Given the description of an element on the screen output the (x, y) to click on. 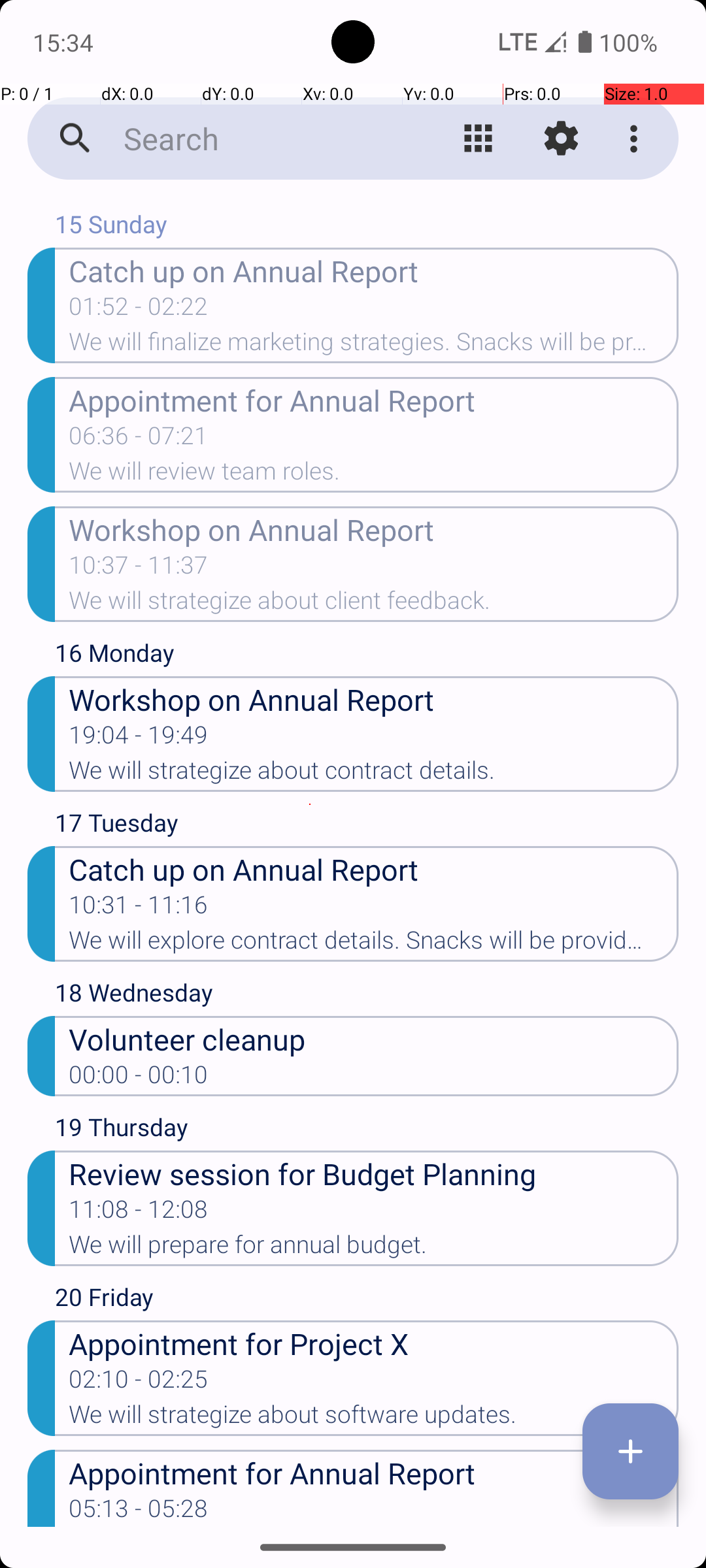
01:52 - 02:22 Element type: android.widget.TextView (137, 309)
We will finalize marketing strategies. Snacks will be provided. Element type: android.widget.TextView (373, 345)
06:36 - 07:21 Element type: android.widget.TextView (137, 439)
We will review team roles. Element type: android.widget.TextView (373, 474)
10:37 - 11:37 Element type: android.widget.TextView (137, 568)
We will strategize about client feedback. Element type: android.widget.TextView (373, 603)
19:04 - 19:49 Element type: android.widget.TextView (137, 738)
We will strategize about contract details. Element type: android.widget.TextView (373, 773)
10:31 - 11:16 Element type: android.widget.TextView (137, 908)
We will explore contract details. Snacks will be provided. Element type: android.widget.TextView (373, 943)
Volunteer cleanup Element type: android.widget.TextView (373, 1038)
00:00 - 00:10 Element type: android.widget.TextView (137, 1078)
11:08 - 12:08 Element type: android.widget.TextView (137, 1212)
We will prepare for annual budget. Element type: android.widget.TextView (373, 1248)
02:10 - 02:25 Element type: android.widget.TextView (137, 1382)
We will strategize about software updates. Element type: android.widget.TextView (373, 1418)
05:13 - 05:28 Element type: android.widget.TextView (137, 1510)
